Given the description of an element on the screen output the (x, y) to click on. 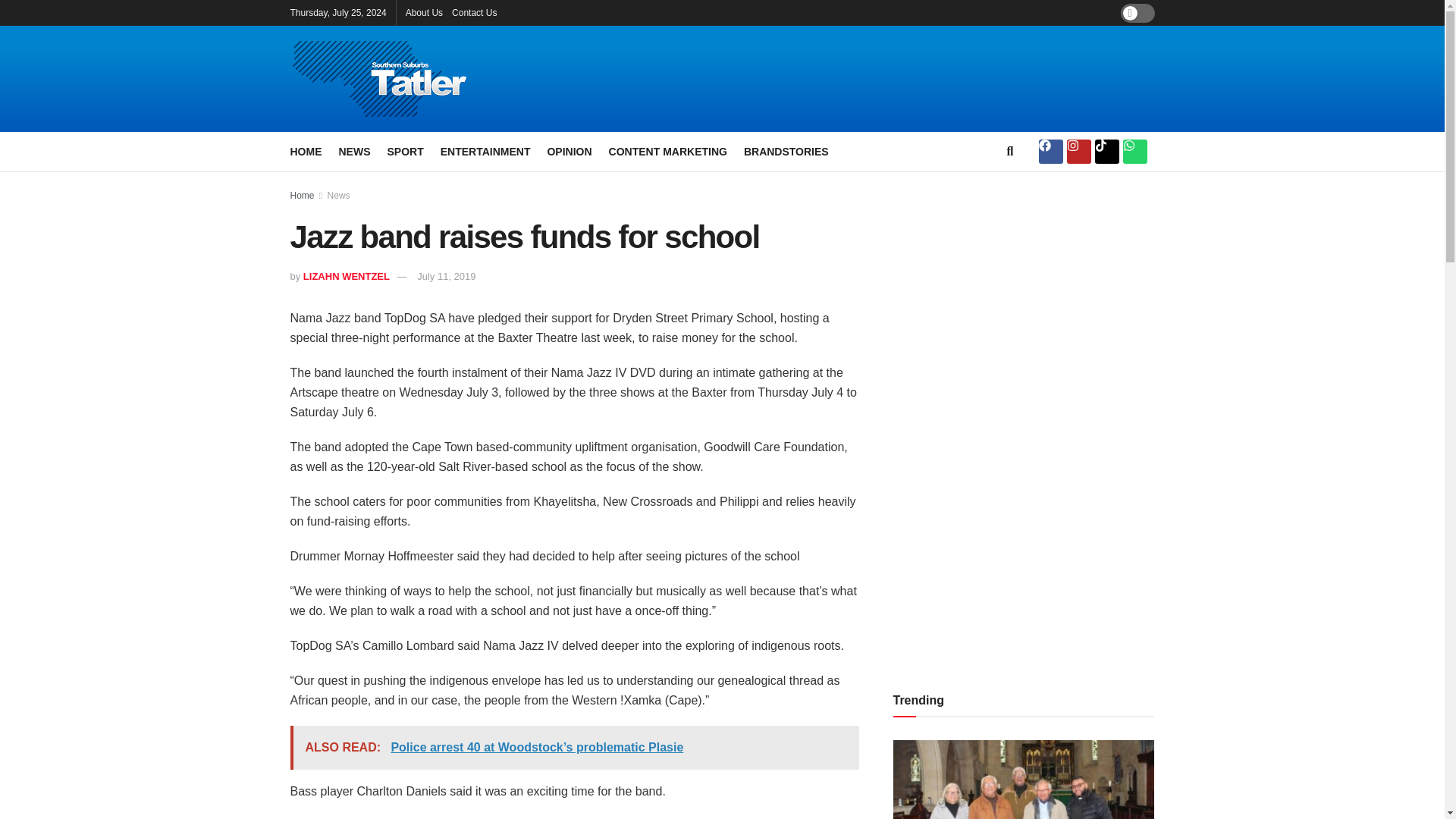
BRANDSTORIES (786, 151)
OPINION (569, 151)
July 11, 2019 (446, 276)
News (338, 195)
Contact Us (473, 12)
CONTENT MARKETING (667, 151)
NEWS (353, 151)
About Us (424, 12)
ENTERTAINMENT (486, 151)
LIZAHN WENTZEL (346, 276)
Home (301, 195)
HOME (305, 151)
3rd party ad content (888, 79)
SPORT (405, 151)
